Given the description of an element on the screen output the (x, y) to click on. 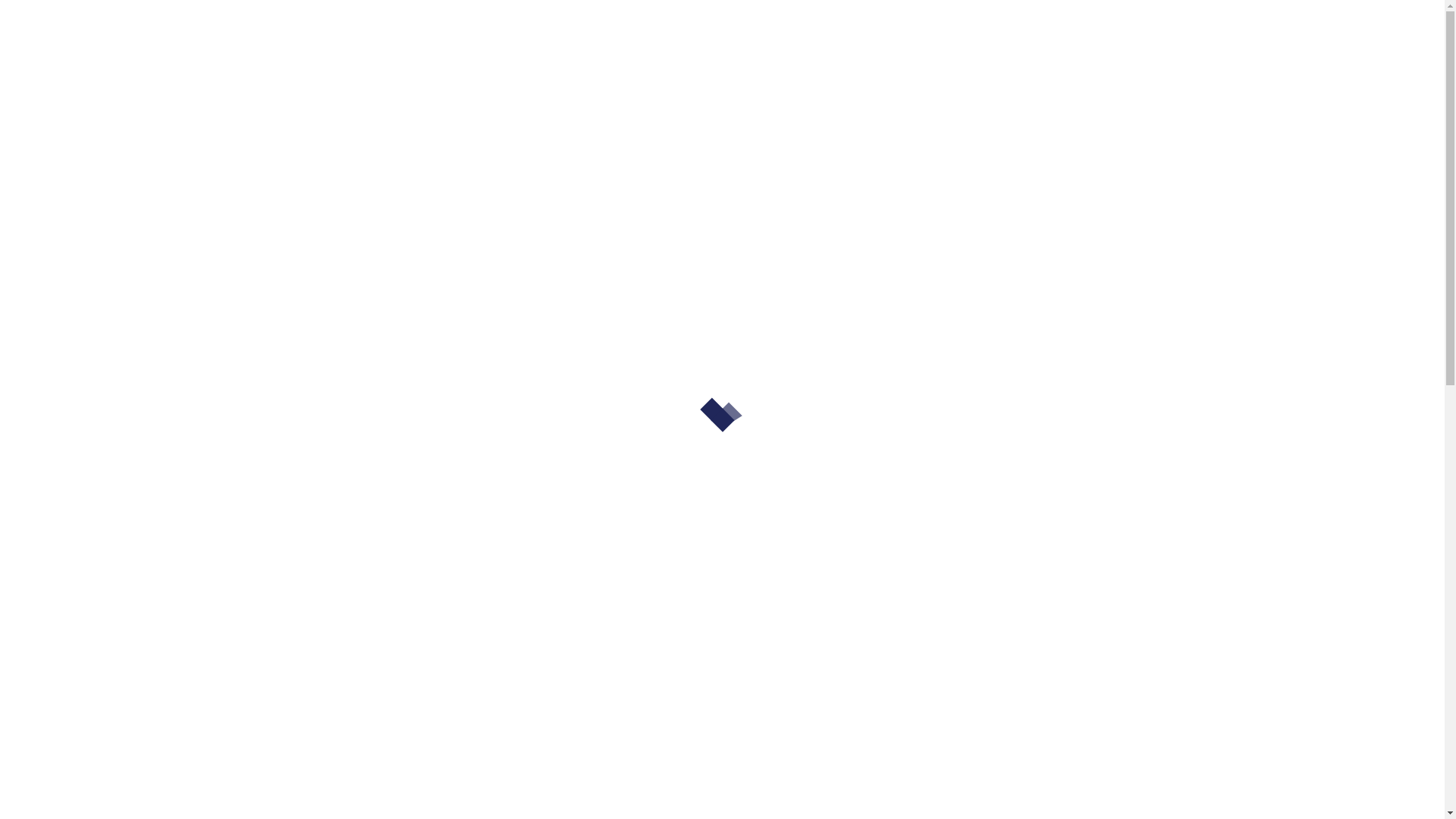
entreprise Element type: text (328, 143)
informatique Element type: text (419, 143)
Adiatic Element type: hover (297, 55)
contact Element type: text (653, 143)
adiatic Element type: text (254, 143)
Accueil Element type: text (288, 262)
